Given the description of an element on the screen output the (x, y) to click on. 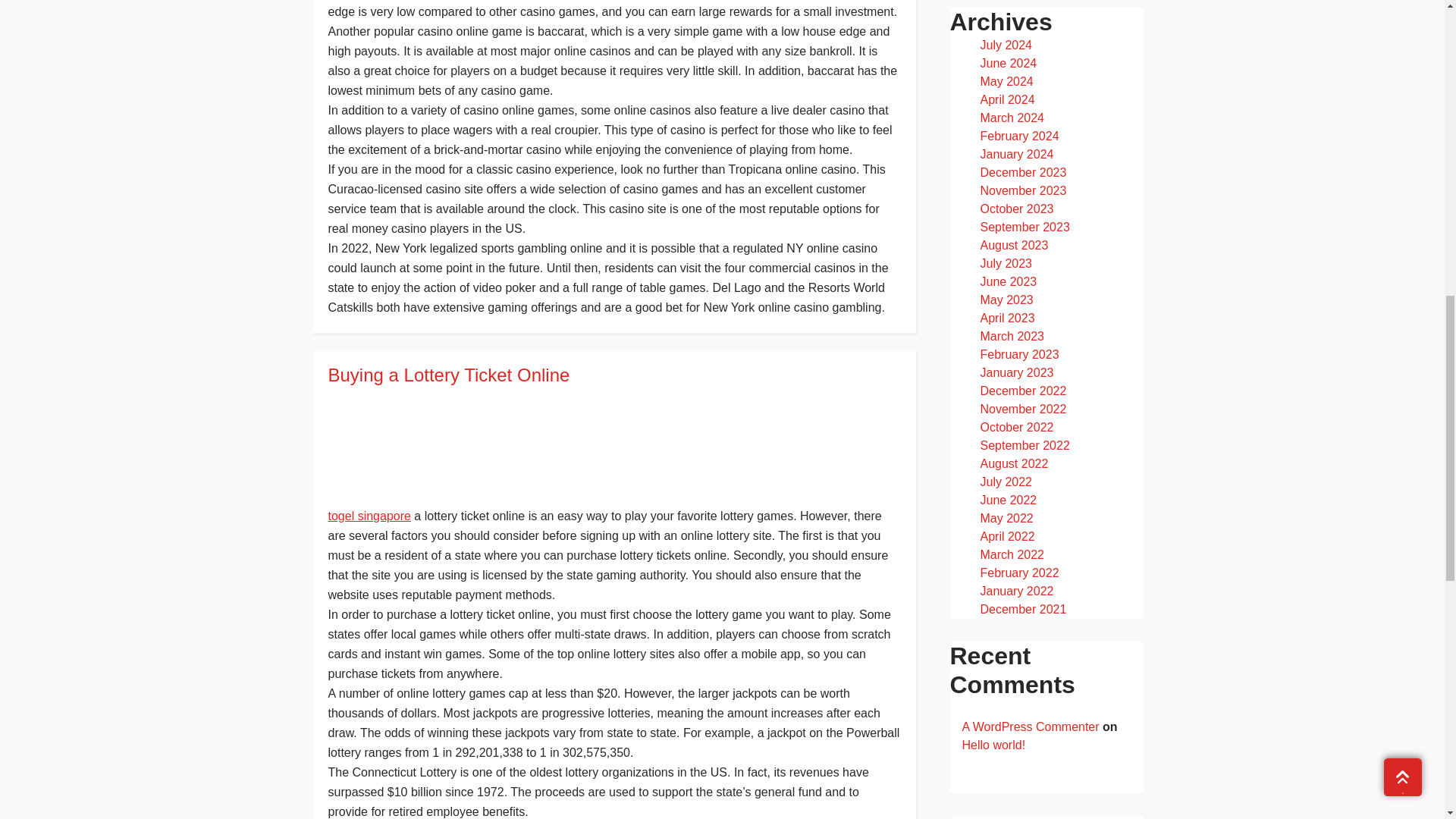
December 2023 (1022, 172)
Buying a Lottery Ticket Online (613, 375)
April 2023 (1006, 318)
togel singapore (368, 515)
August 2023 (1013, 245)
June 2024 (1007, 62)
January 2024 (1015, 154)
June 2023 (1007, 281)
October 2023 (1015, 208)
July 2023 (1005, 263)
July 2024 (1005, 44)
February 2024 (1018, 135)
April 2024 (1006, 99)
May 2023 (1005, 299)
March 2024 (1011, 117)
